Given the description of an element on the screen output the (x, y) to click on. 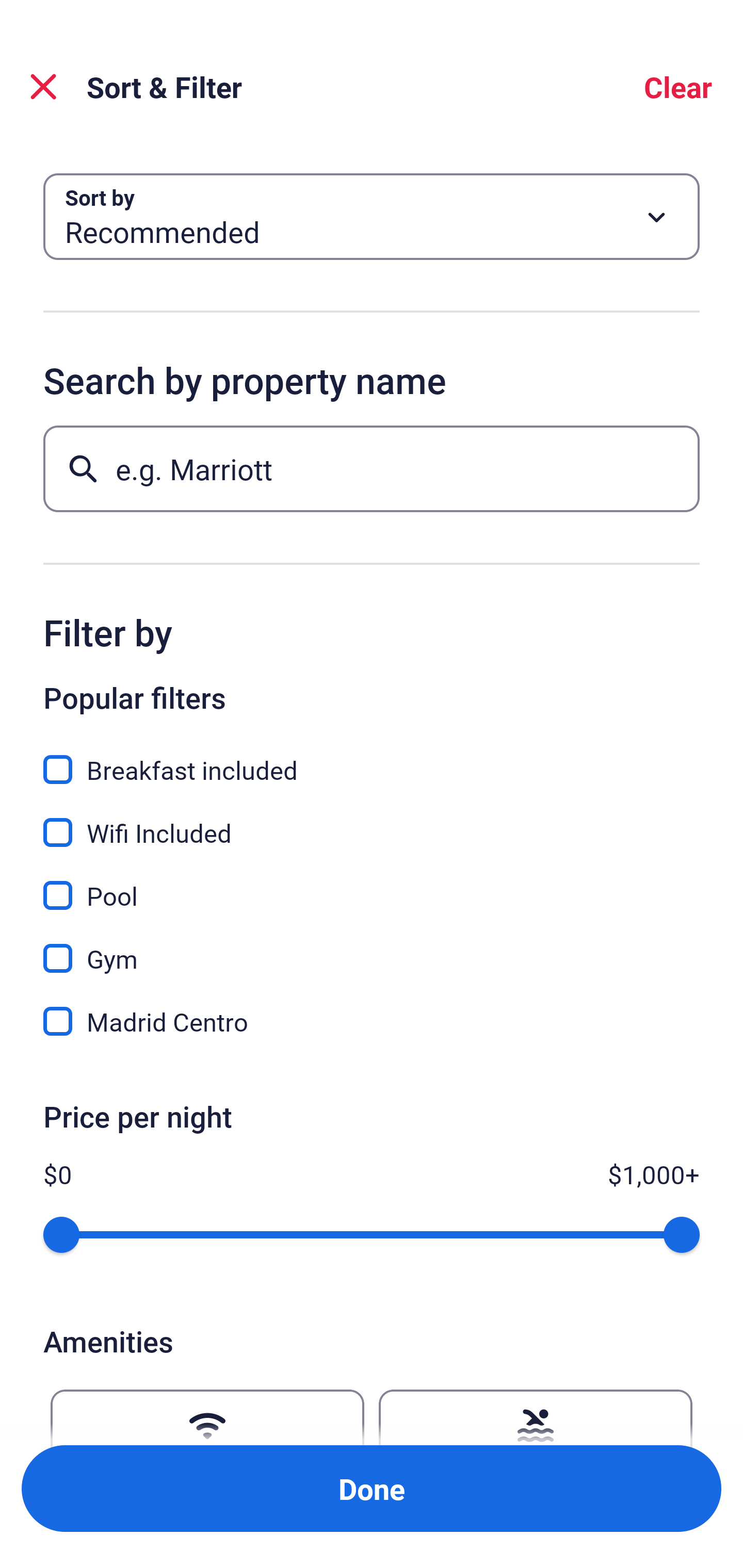
Close Sort and Filter (43, 86)
Clear (677, 86)
Sort by Button Recommended (371, 217)
e.g. Marriott Button (371, 468)
Breakfast included, Breakfast included (371, 757)
Wifi Included, Wifi Included (371, 821)
Pool, Pool (371, 883)
Gym, Gym (371, 946)
Madrid Centro, Madrid Centro (371, 1021)
Apply and close Sort and Filter Done (371, 1488)
